Given the description of an element on the screen output the (x, y) to click on. 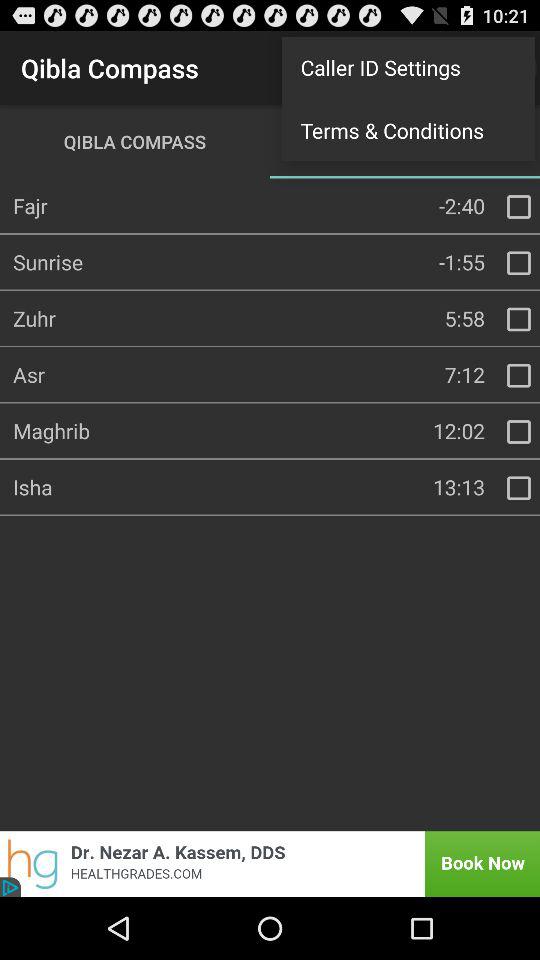
button image (270, 864)
